Given the description of an element on the screen output the (x, y) to click on. 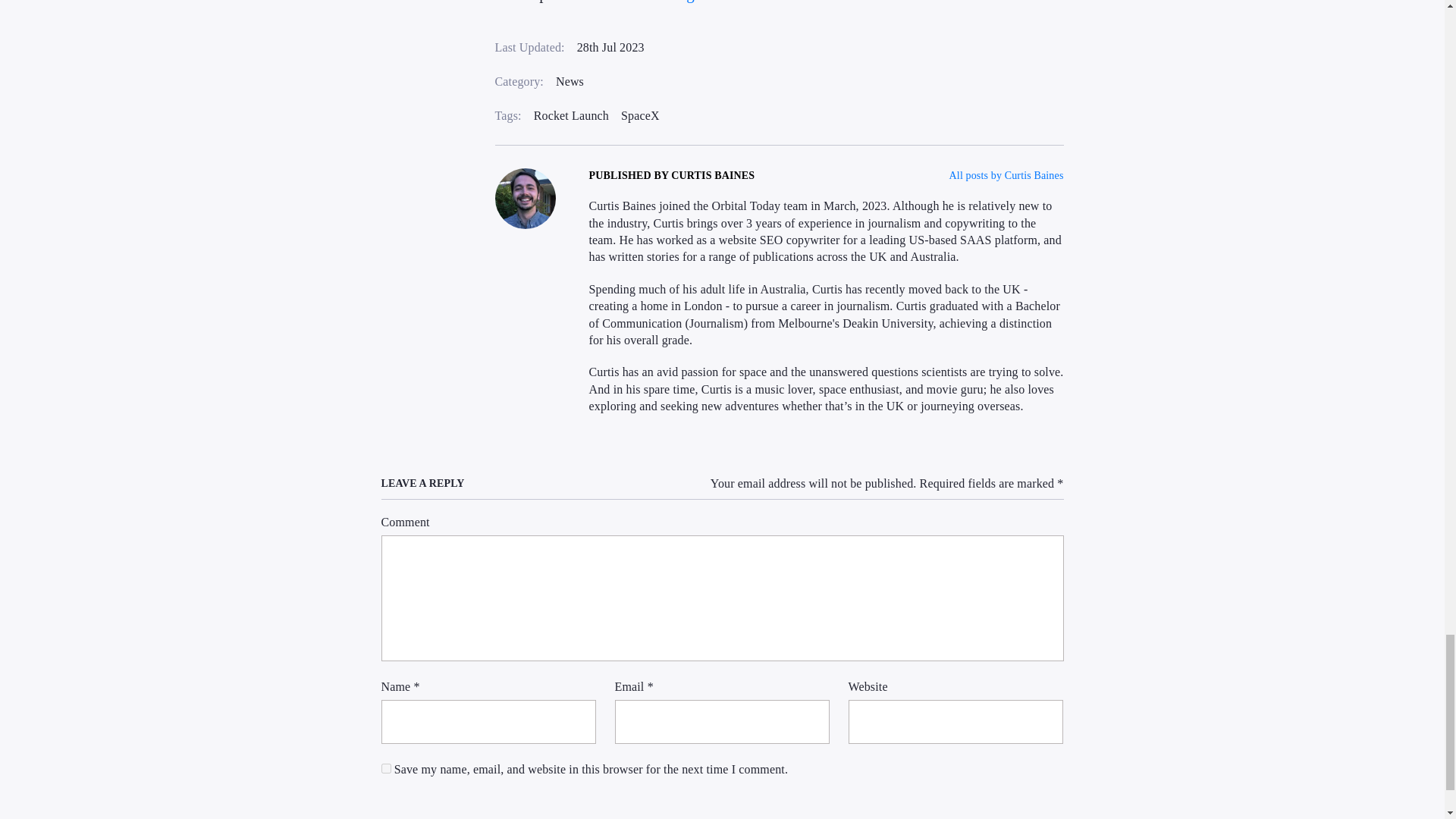
yes (385, 768)
